Given the description of an element on the screen output the (x, y) to click on. 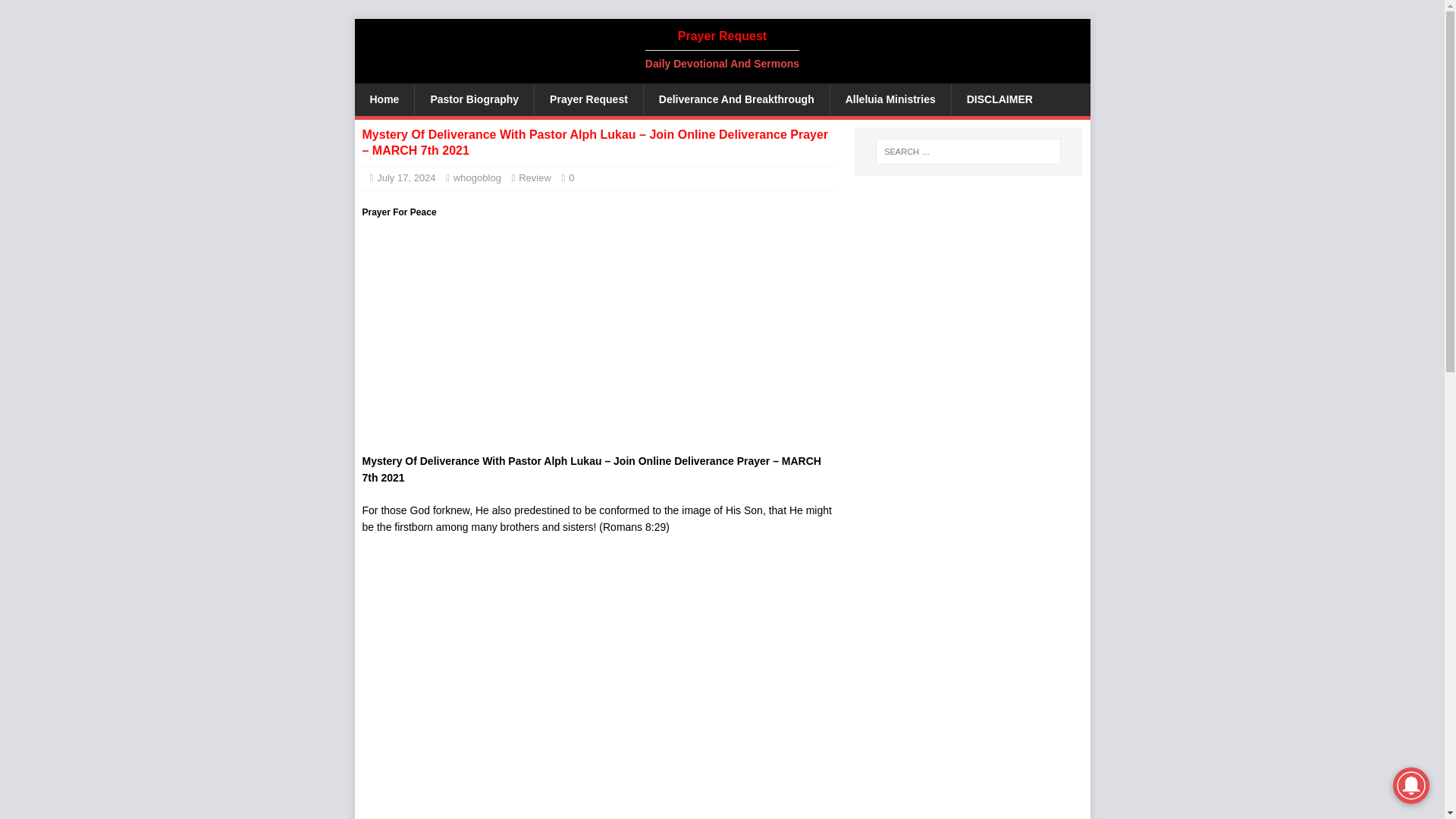
July 17, 2024 (406, 177)
Pastor Biography (473, 99)
whogoblog (476, 177)
Prayer Request (588, 99)
Search (56, 11)
Home (384, 99)
Review (534, 177)
